Given the description of an element on the screen output the (x, y) to click on. 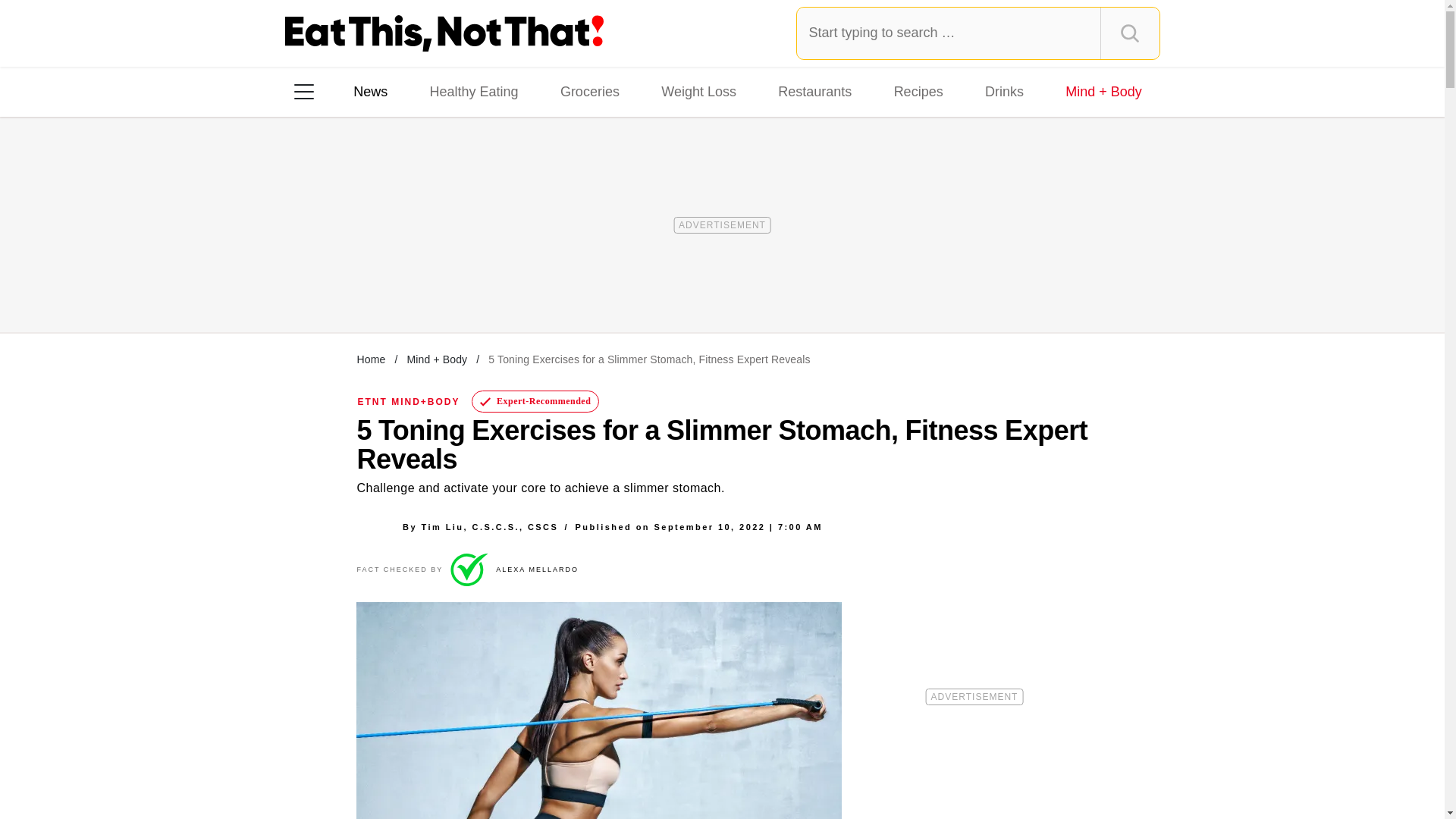
Recipes (918, 91)
Home (370, 358)
Pinterest (443, 287)
Weight Loss (698, 91)
Restaurants (814, 91)
News (370, 91)
Facebook (314, 287)
Instagram (357, 287)
Drinks (1003, 91)
Pinterest (443, 287)
